Given the description of an element on the screen output the (x, y) to click on. 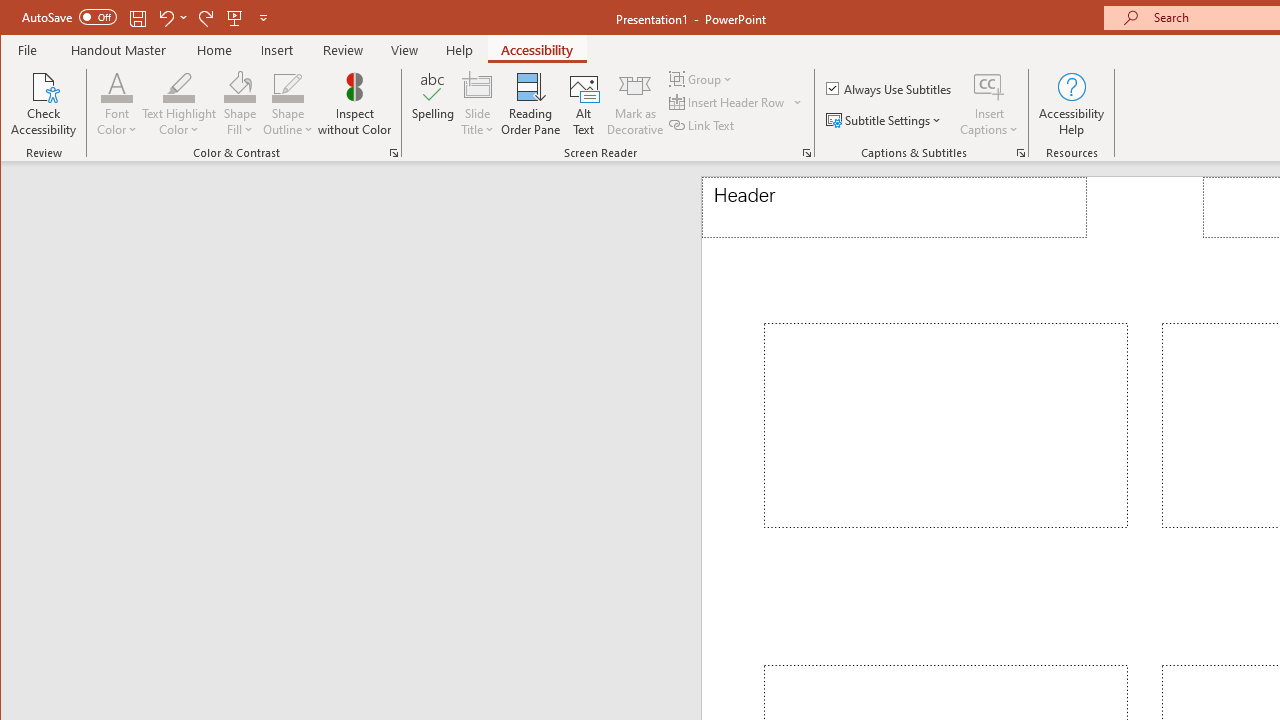
Font Color (116, 104)
Slide Title (477, 86)
Screen Reader (806, 152)
Mark as Decorative (635, 104)
Insert Header Row (735, 101)
Group (701, 78)
Insert Captions (989, 104)
Insert Header Row (728, 101)
Shape Fill (239, 104)
